Given the description of an element on the screen output the (x, y) to click on. 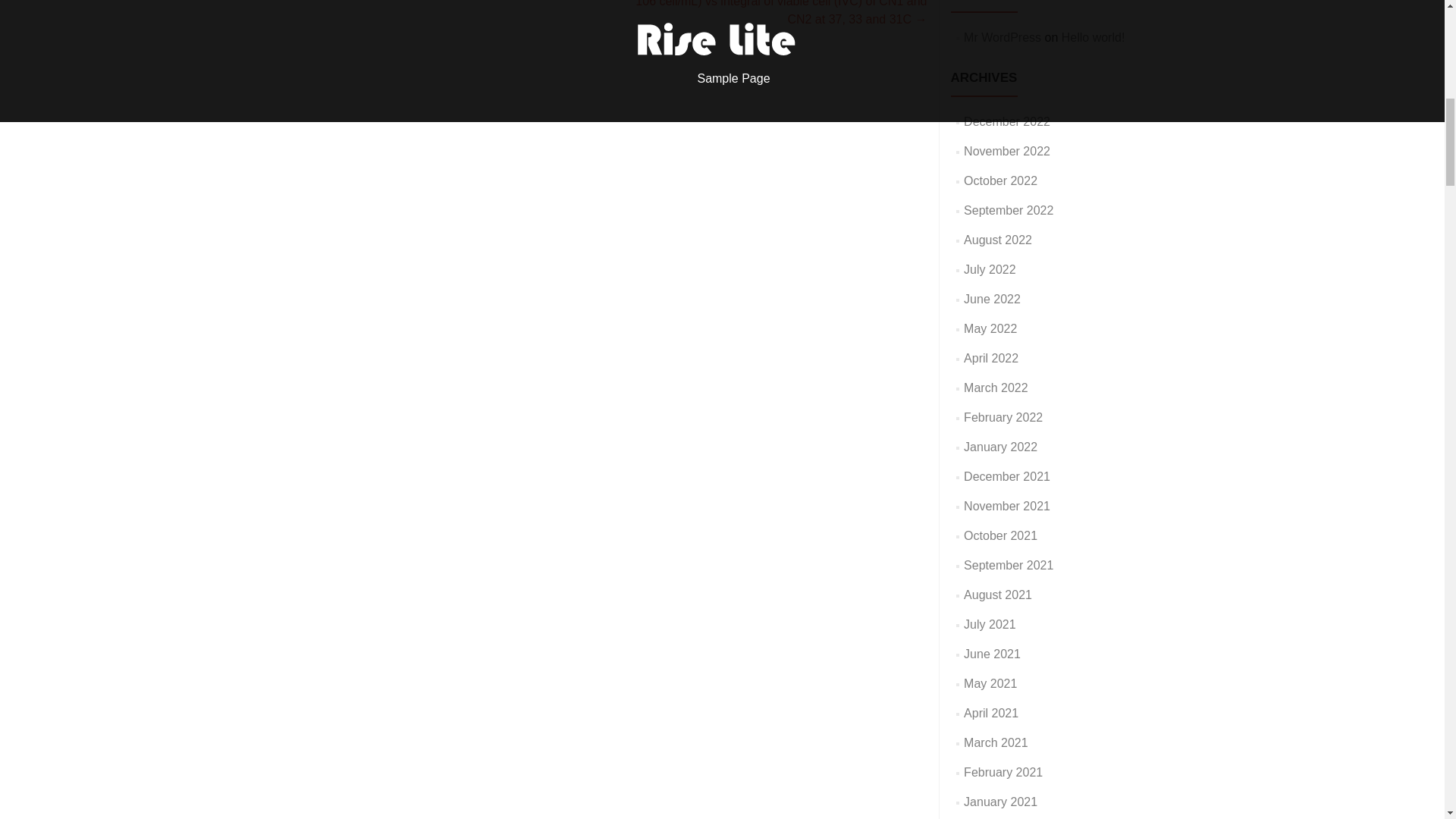
May 2021 (989, 683)
June 2021 (991, 653)
August 2021 (997, 594)
October 2022 (999, 180)
September 2022 (1007, 210)
December 2022 (1006, 121)
August 2022 (997, 239)
December 2021 (1006, 476)
May 2022 (989, 328)
October 2021 (999, 535)
